Given the description of an element on the screen output the (x, y) to click on. 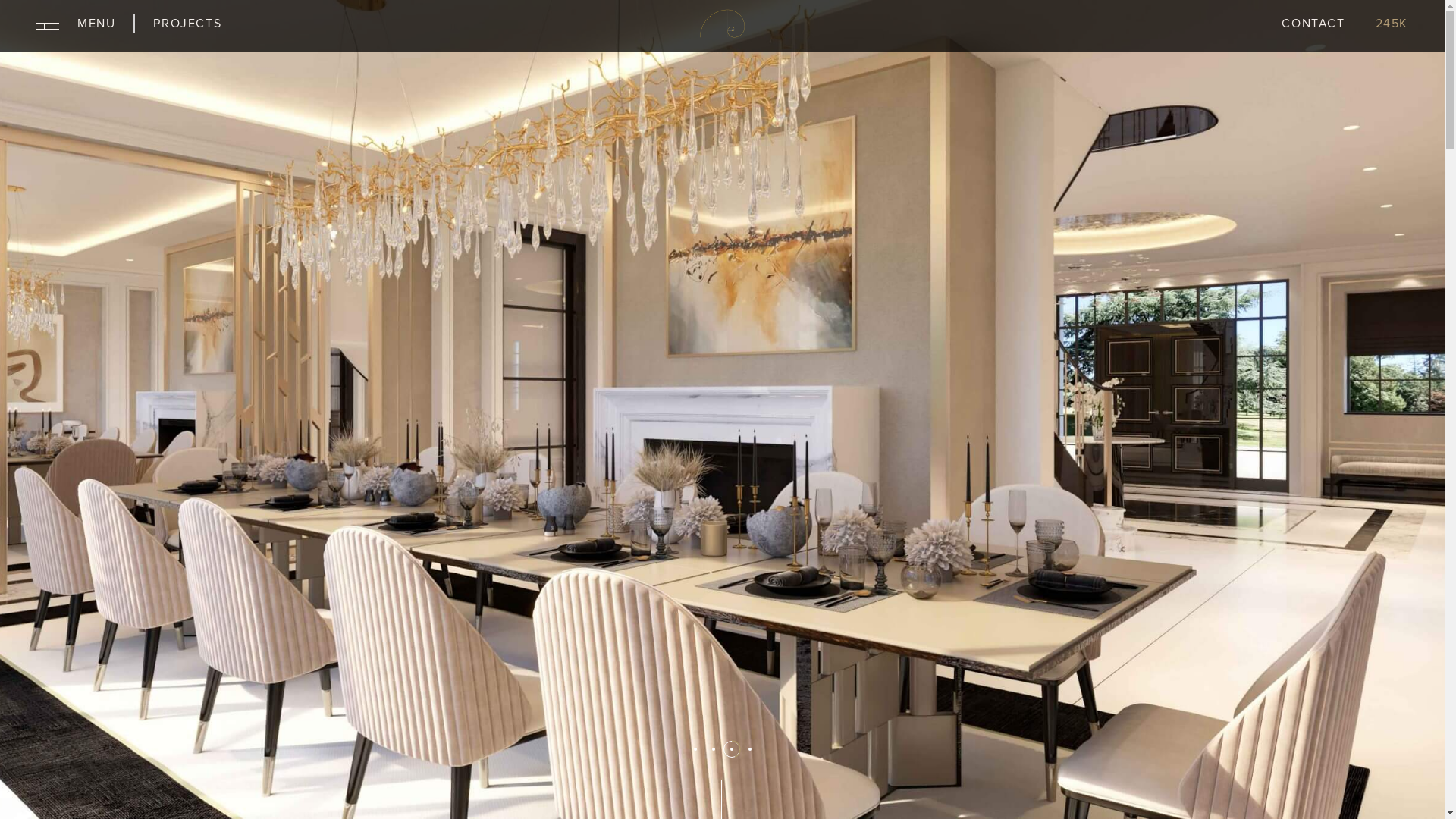
CONTACT Element type: text (1312, 25)
MENU Element type: text (85, 22)
PROJECTS Element type: text (187, 22)
245K Element type: text (1388, 25)
